Given the description of an element on the screen output the (x, y) to click on. 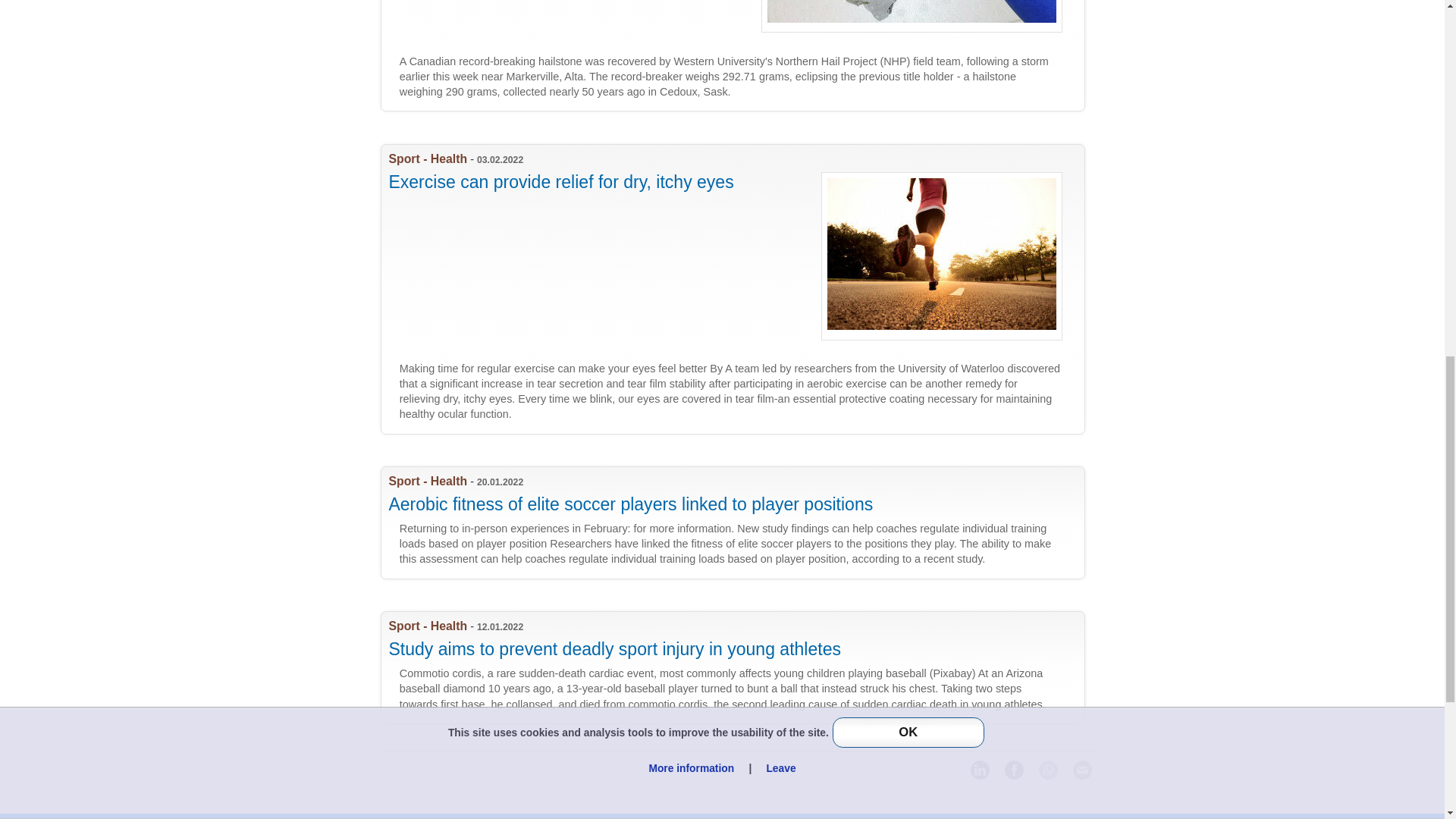
UWO (738, 666)
Share on Facebook (1014, 770)
Share on WhatsApp Web (1047, 770)
UWO (738, 55)
WATERLOO (738, 522)
Share on LinkedIn (980, 770)
